Given the description of an element on the screen output the (x, y) to click on. 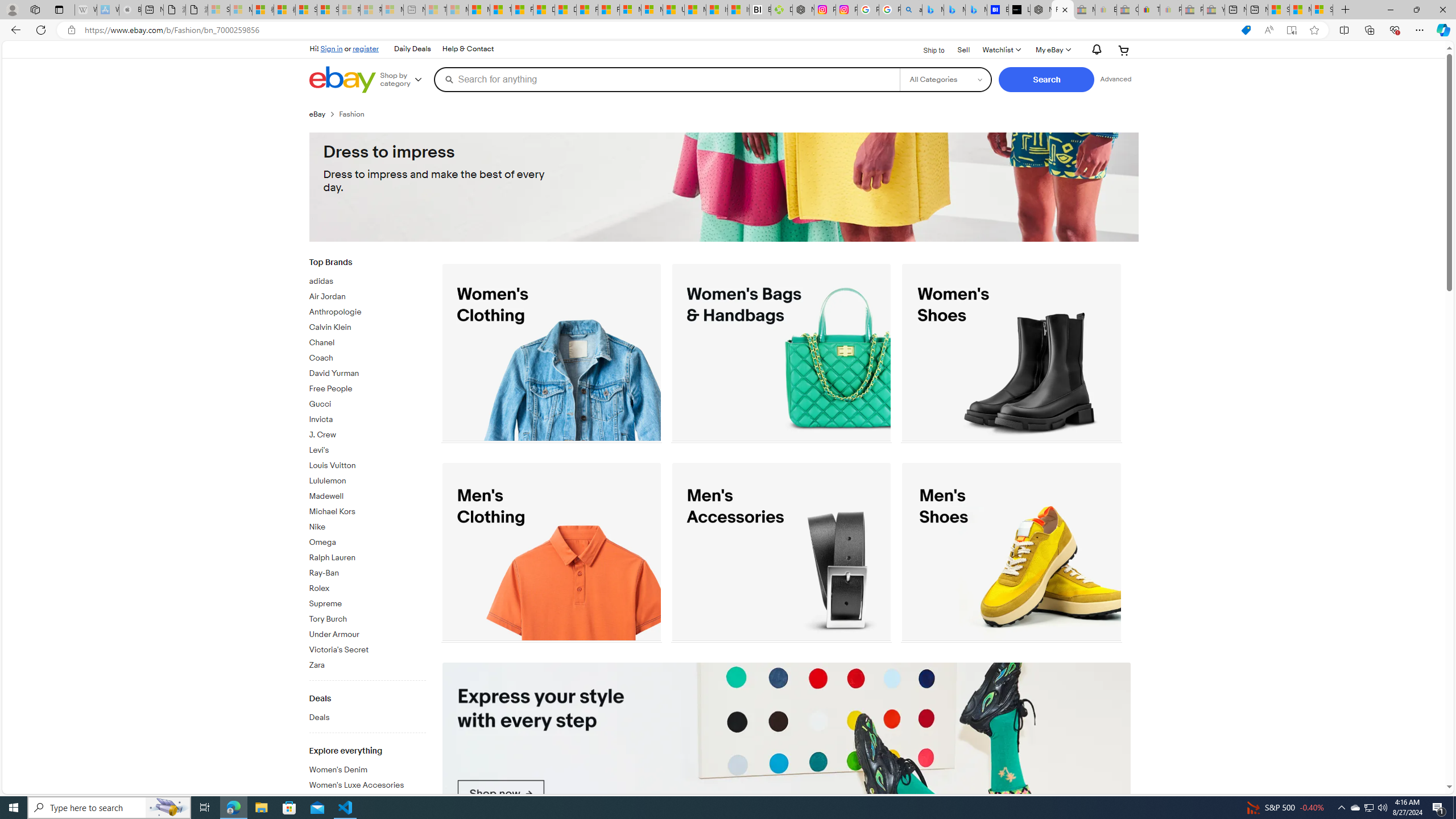
Your shopping cart (1123, 49)
adidas (367, 279)
Microsoft Services Agreement - Sleeping (241, 9)
alabama high school quarterback dies - Search (911, 9)
David Yurman (367, 373)
Deals (367, 717)
